Given the description of an element on the screen output the (x, y) to click on. 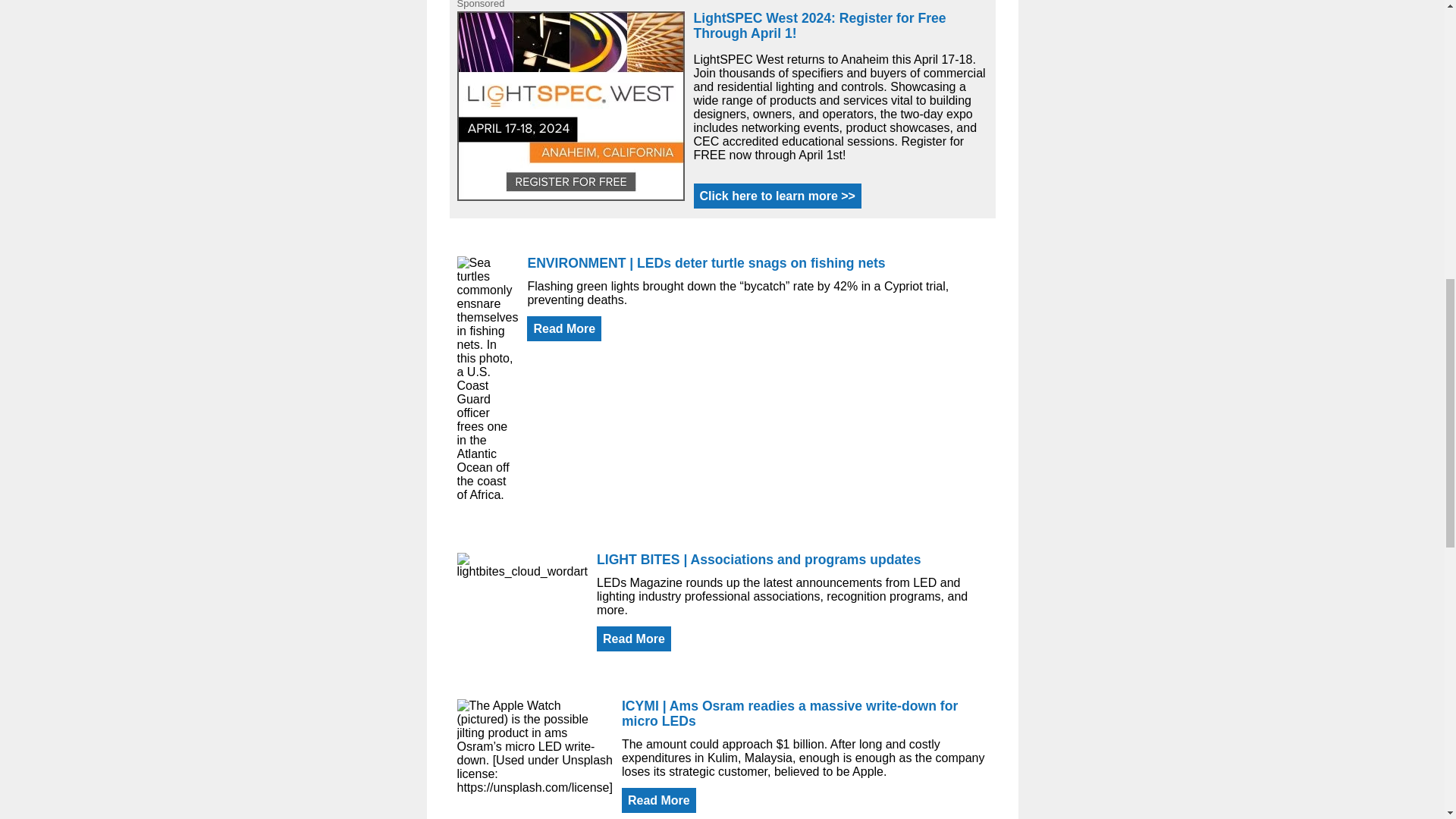
Read More (658, 800)
LightSPEC West 2024: Register for Free Through April 1! (818, 25)
Read More (633, 638)
Read More (564, 328)
